Given the description of an element on the screen output the (x, y) to click on. 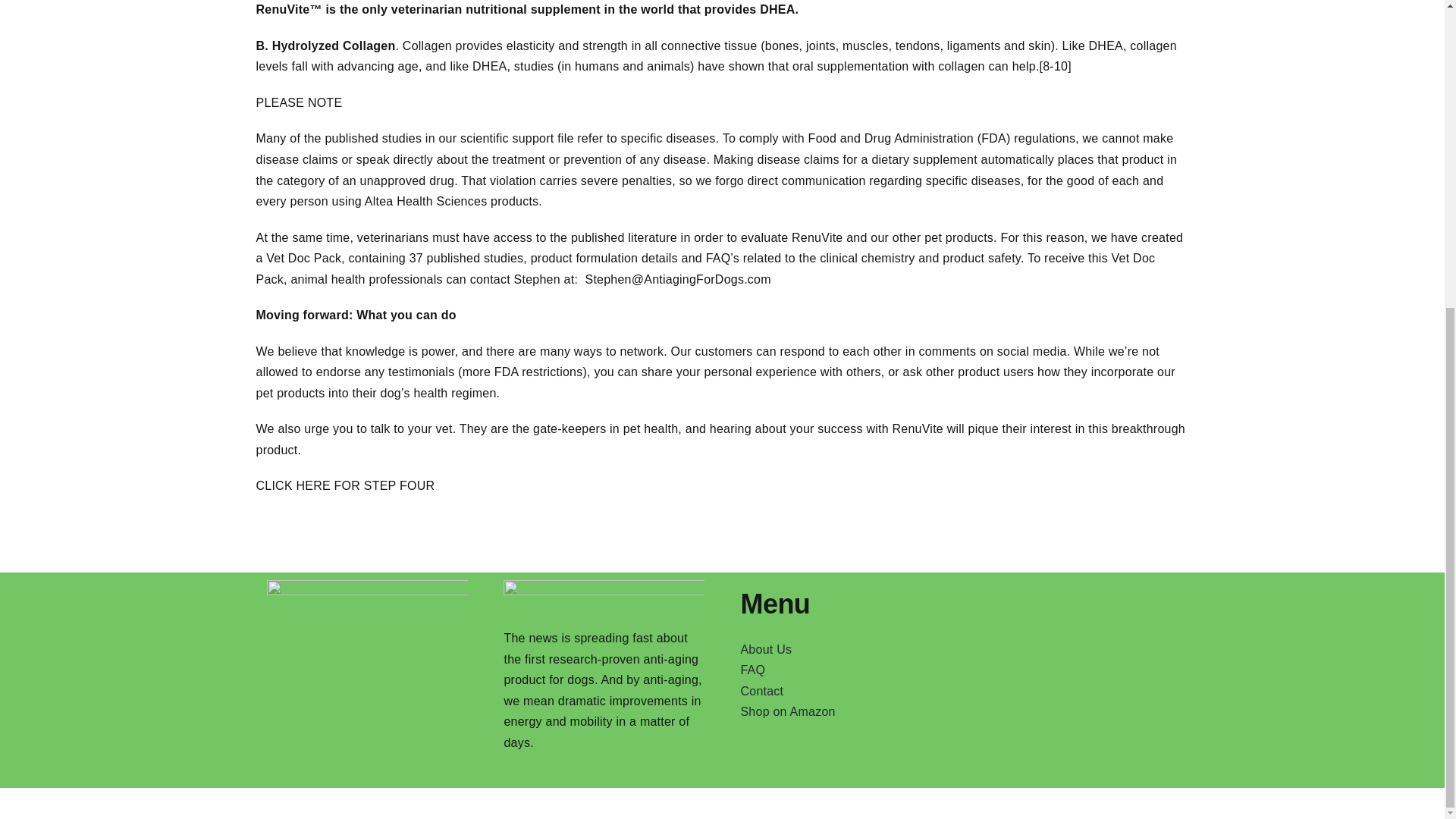
CLICK HERE FOR STEP FOUR (345, 485)
